Given the description of an element on the screen output the (x, y) to click on. 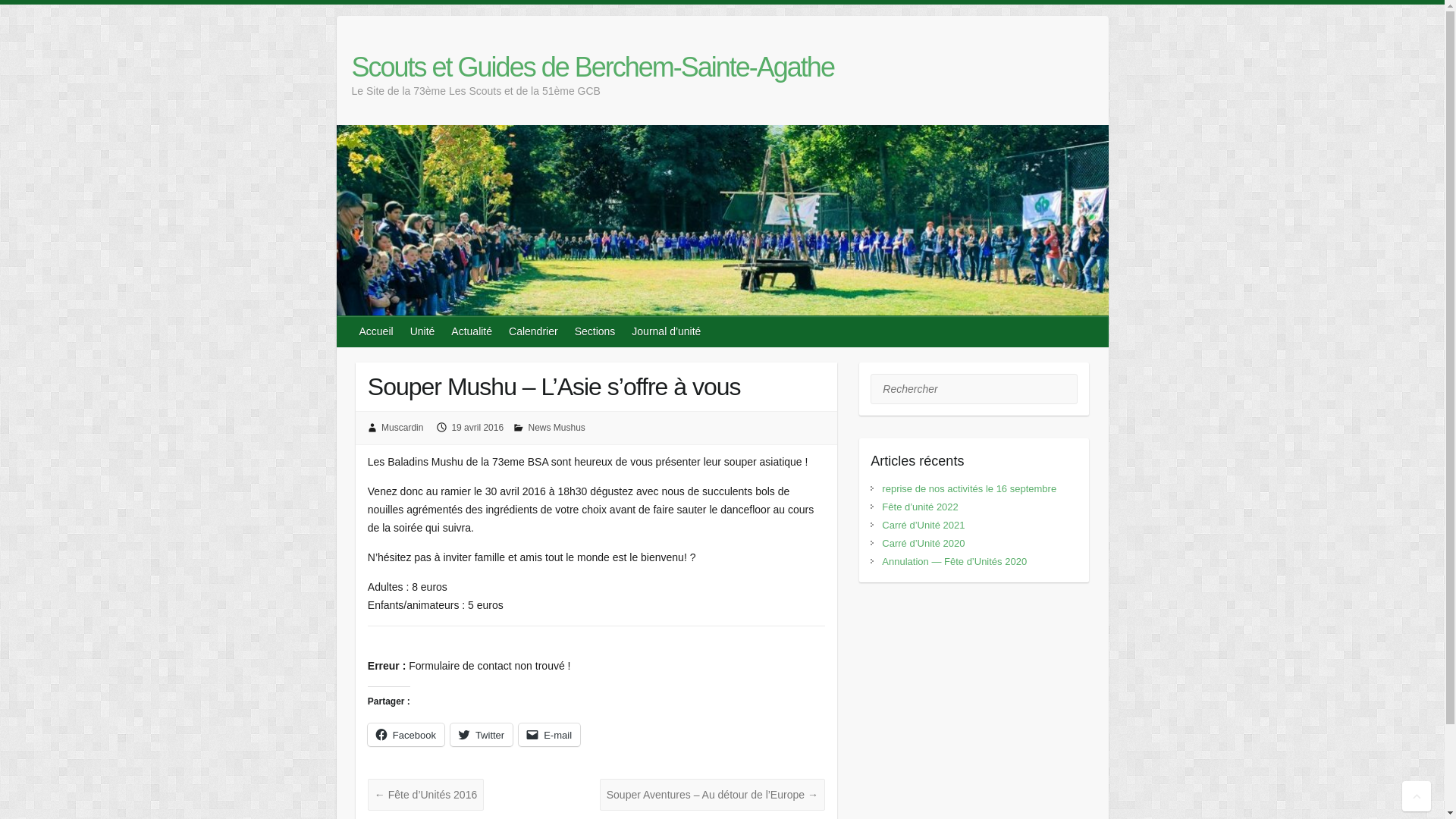
Scouts et Guides de Berchem-Sainte-Agathe Element type: text (592, 67)
E-mail Element type: text (549, 734)
Muscardin Element type: text (402, 427)
Facebook Element type: text (405, 734)
News Mushus Element type: text (555, 427)
Calendrier Element type: text (534, 331)
Accueil Element type: text (376, 331)
19 avril 2016 Element type: text (477, 427)
Sections Element type: text (595, 331)
Twitter Element type: text (481, 734)
